Given the description of an element on the screen output the (x, y) to click on. 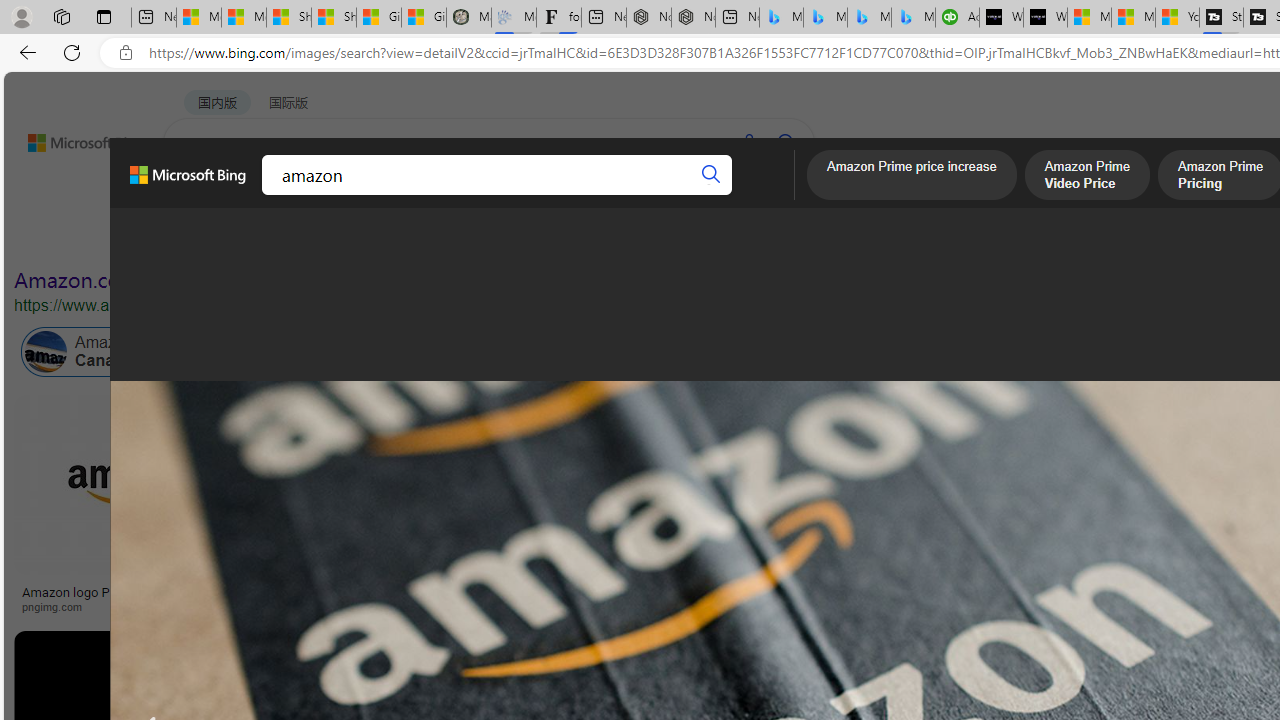
Color (305, 237)
Layout (443, 237)
Date (591, 237)
Color (305, 237)
Amazon Prime Video Price (1087, 177)
aiophotoz.com (983, 606)
Two Reasons Why Retailers Need to Leverage Amazon (396, 598)
Amazon Animals (749, 351)
Microsoft Bing Travel - Shangri-La Hotel Bangkok (913, 17)
Listen: What's next for Amazon?usatoday.comSave (713, 508)
